Given the description of an element on the screen output the (x, y) to click on. 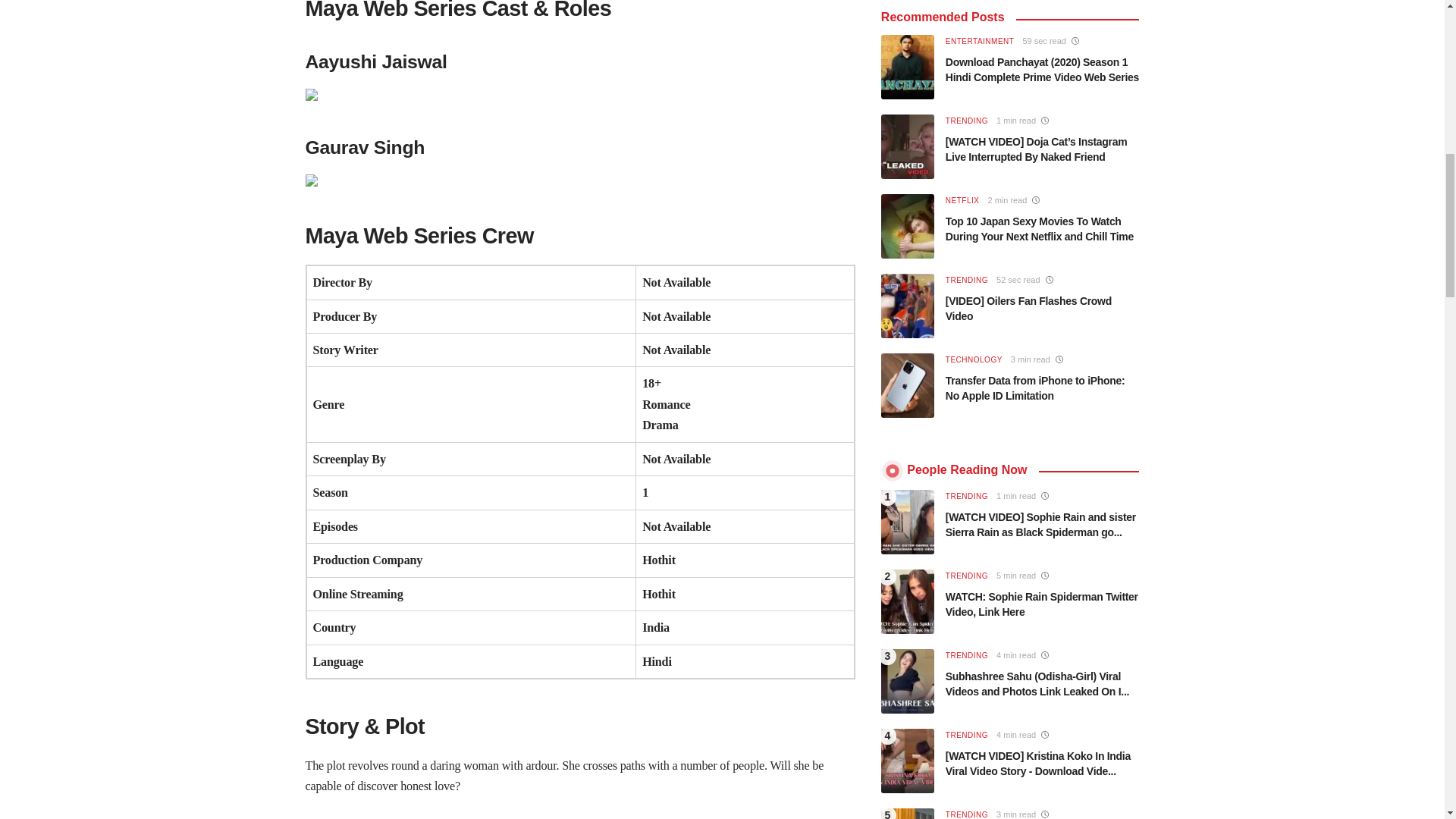
Aayushi Jaiswal (579, 98)
Image Not Available (579, 184)
